Given the description of an element on the screen output the (x, y) to click on. 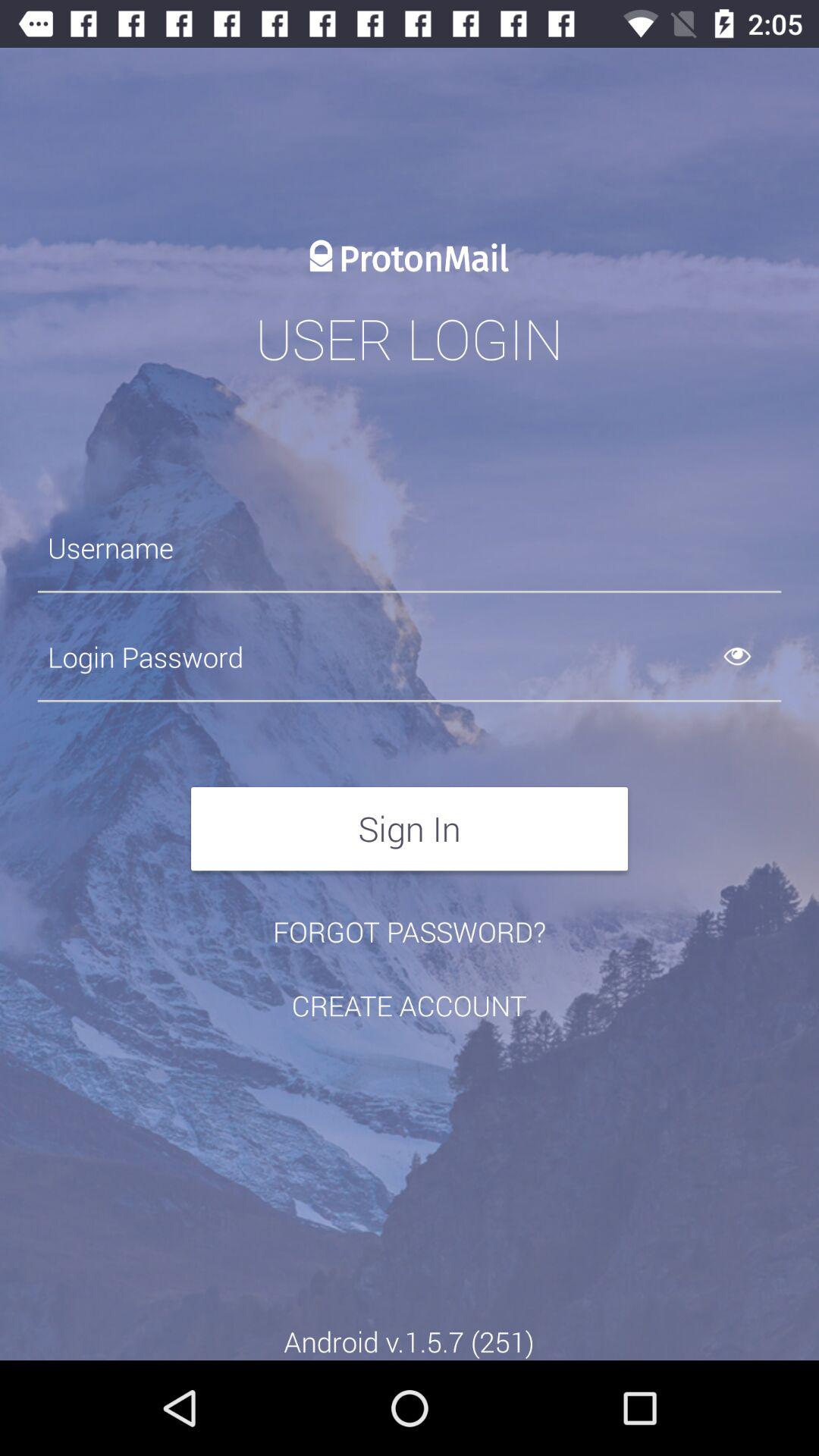
scroll until the create account item (408, 1005)
